Given the description of an element on the screen output the (x, y) to click on. 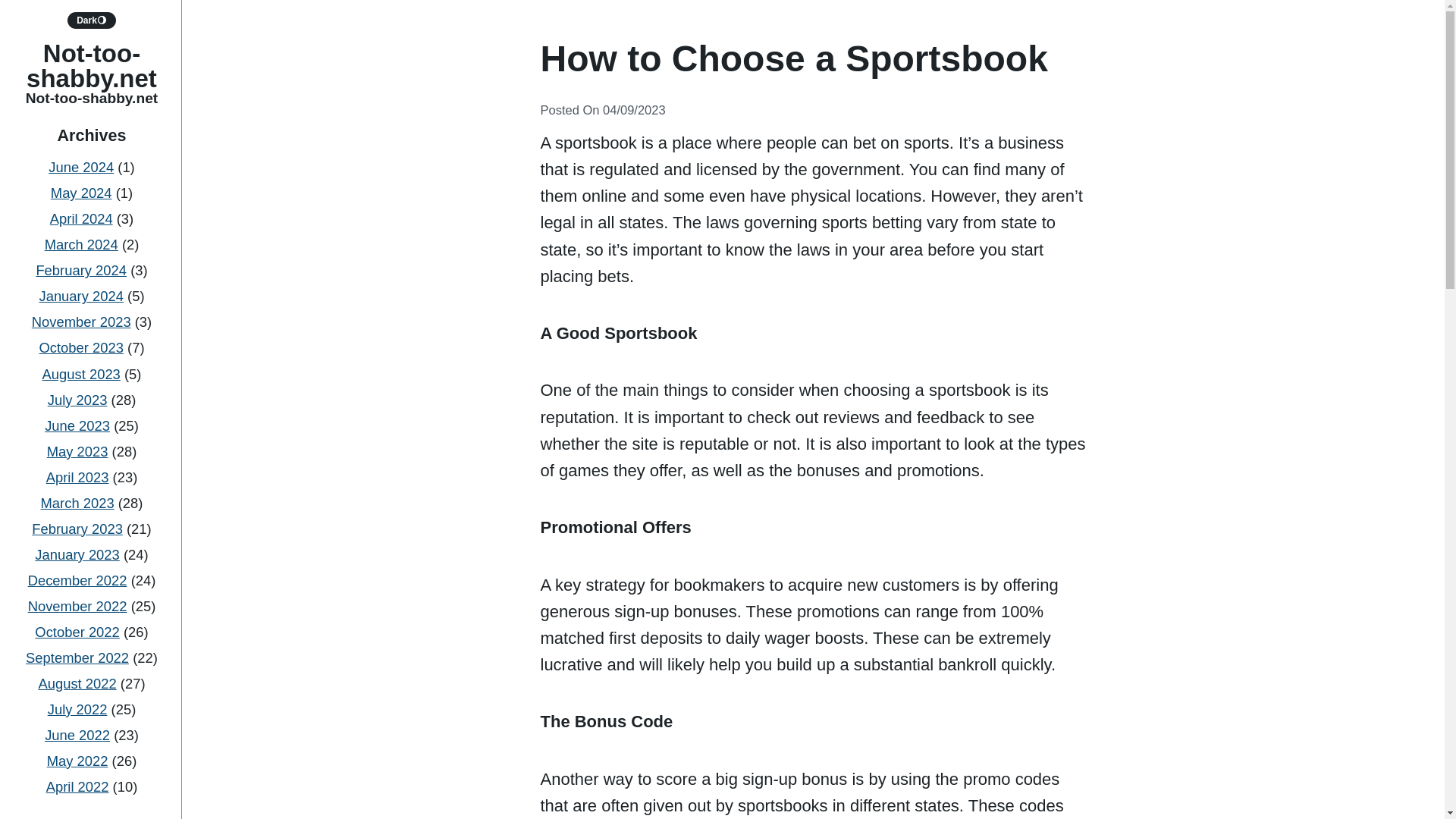
November 2023 (81, 321)
May 2024 (81, 192)
October 2023 (80, 347)
August 2022 (76, 683)
January 2023 (76, 554)
April 2022 (77, 786)
July 2022 (77, 709)
June 2023 (77, 425)
Not-too-shabby.net (91, 65)
April 2023 (77, 477)
